Given the description of an element on the screen output the (x, y) to click on. 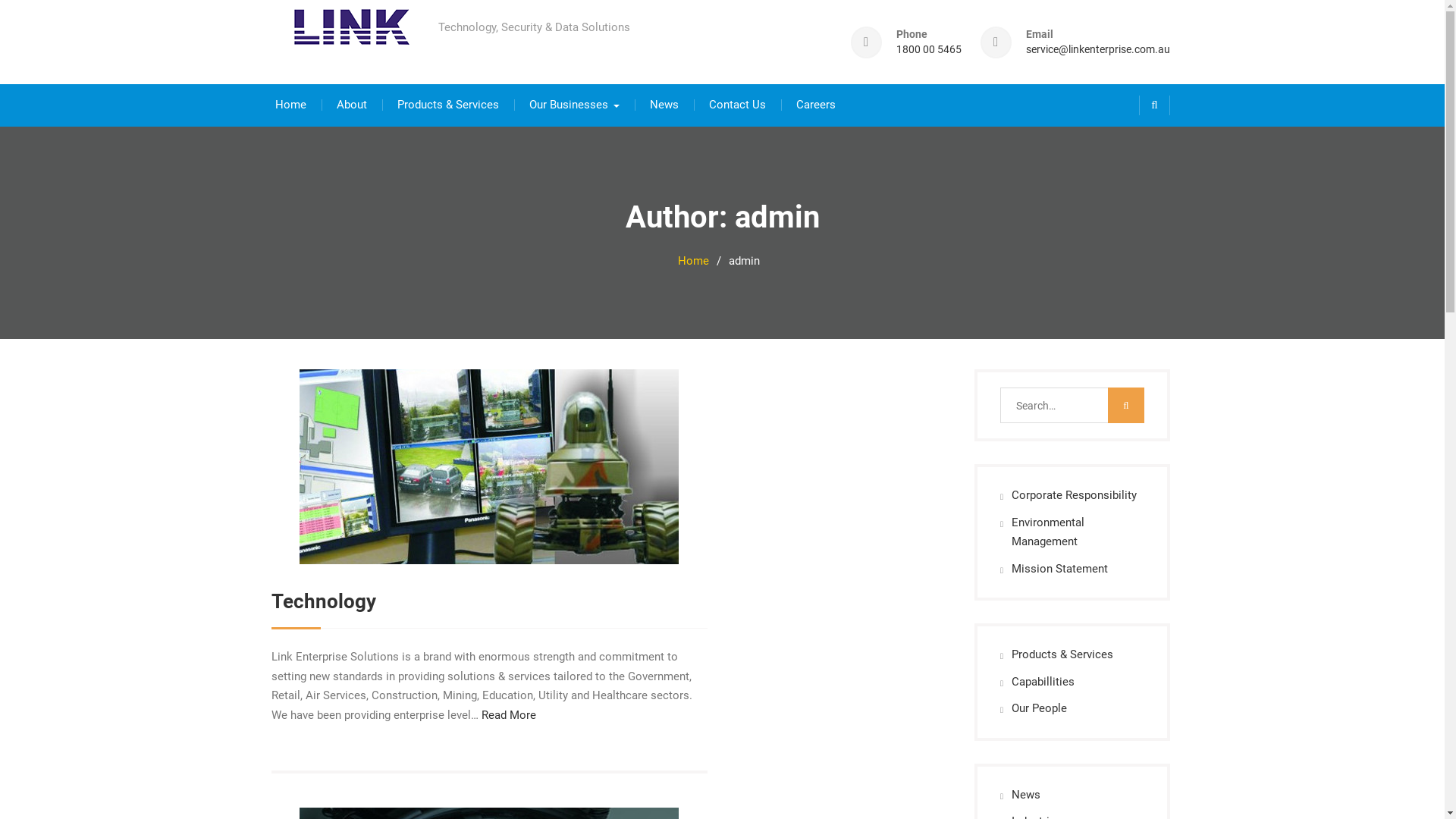
Contact Us Element type: text (736, 105)
service@linkenterprise.com.au Element type: text (1097, 49)
Home Element type: text (289, 105)
Capabillities Element type: text (1042, 681)
Read More Element type: text (507, 714)
Corporate Responsibility Element type: text (1073, 495)
Technology Element type: text (323, 600)
Home Element type: text (693, 260)
News Element type: text (663, 105)
Our Businesses Element type: text (574, 105)
Careers Element type: text (815, 105)
1800 00 5465 Element type: text (928, 49)
Products & Services Element type: text (447, 105)
Our People Element type: text (1038, 708)
News Element type: text (1025, 794)
About Element type: text (351, 105)
Environmental Management Element type: text (1047, 532)
Search for: Element type: hover (1072, 405)
Products & Services Element type: text (1062, 654)
Mission Statement Element type: text (1059, 568)
